Given the description of an element on the screen output the (x, y) to click on. 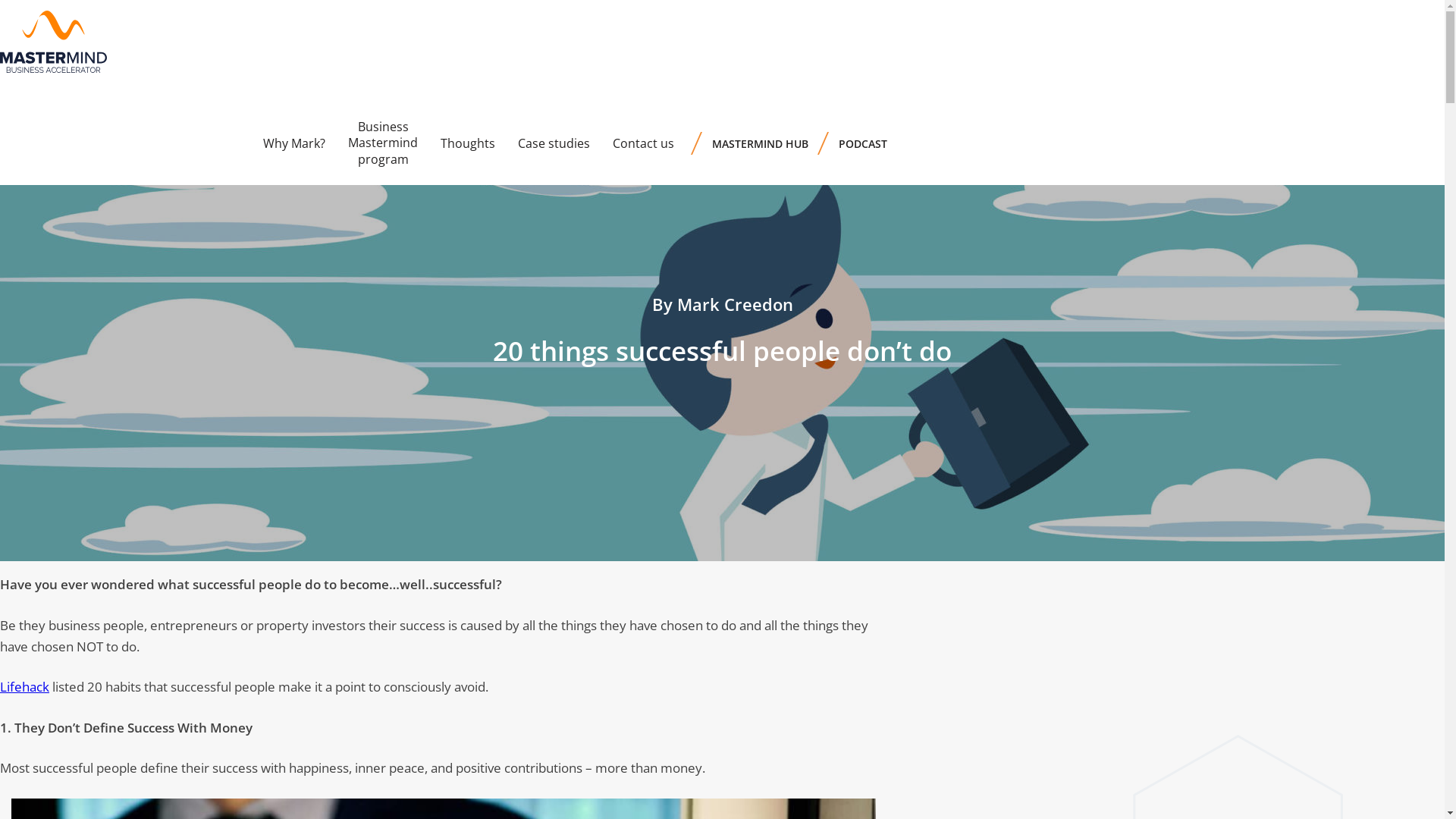
Thoughts Element type: text (467, 143)
PODCAST Element type: text (862, 142)
MASTERMIND HUB Element type: text (760, 142)
Contact us Element type: text (643, 143)
Why Mark? Element type: text (294, 143)
Business
Mastermind
program Element type: text (382, 143)
Case studies Element type: text (553, 143)
Lifehack Element type: text (24, 686)
